Given the description of an element on the screen output the (x, y) to click on. 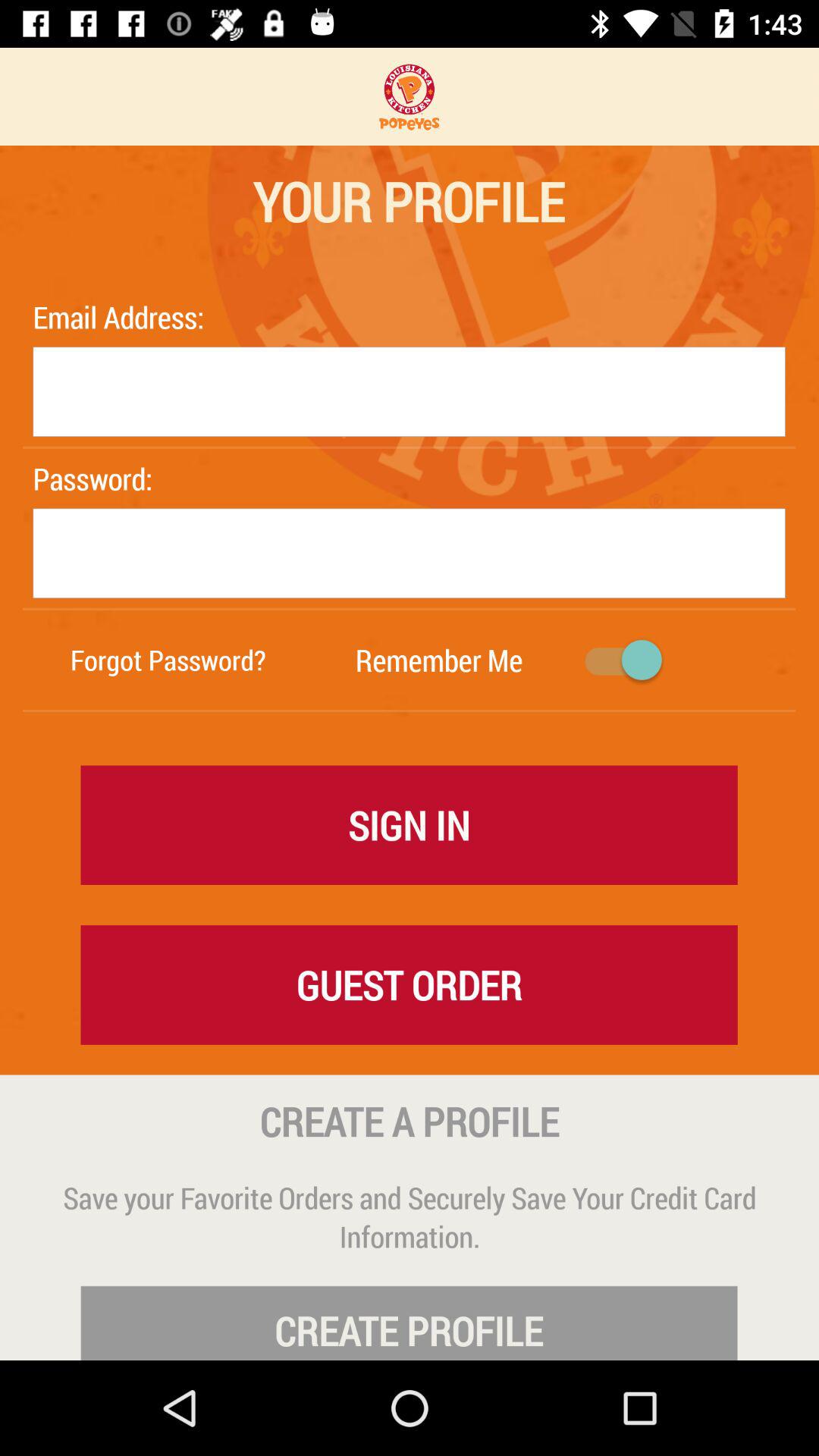
select the item next to the remember me (167, 659)
